Given the description of an element on the screen output the (x, y) to click on. 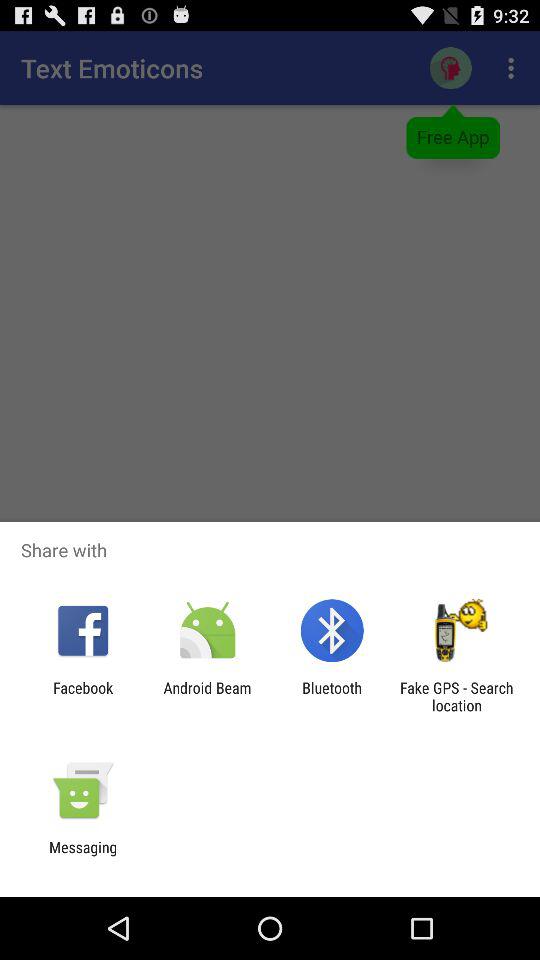
press the android beam (207, 696)
